Given the description of an element on the screen output the (x, y) to click on. 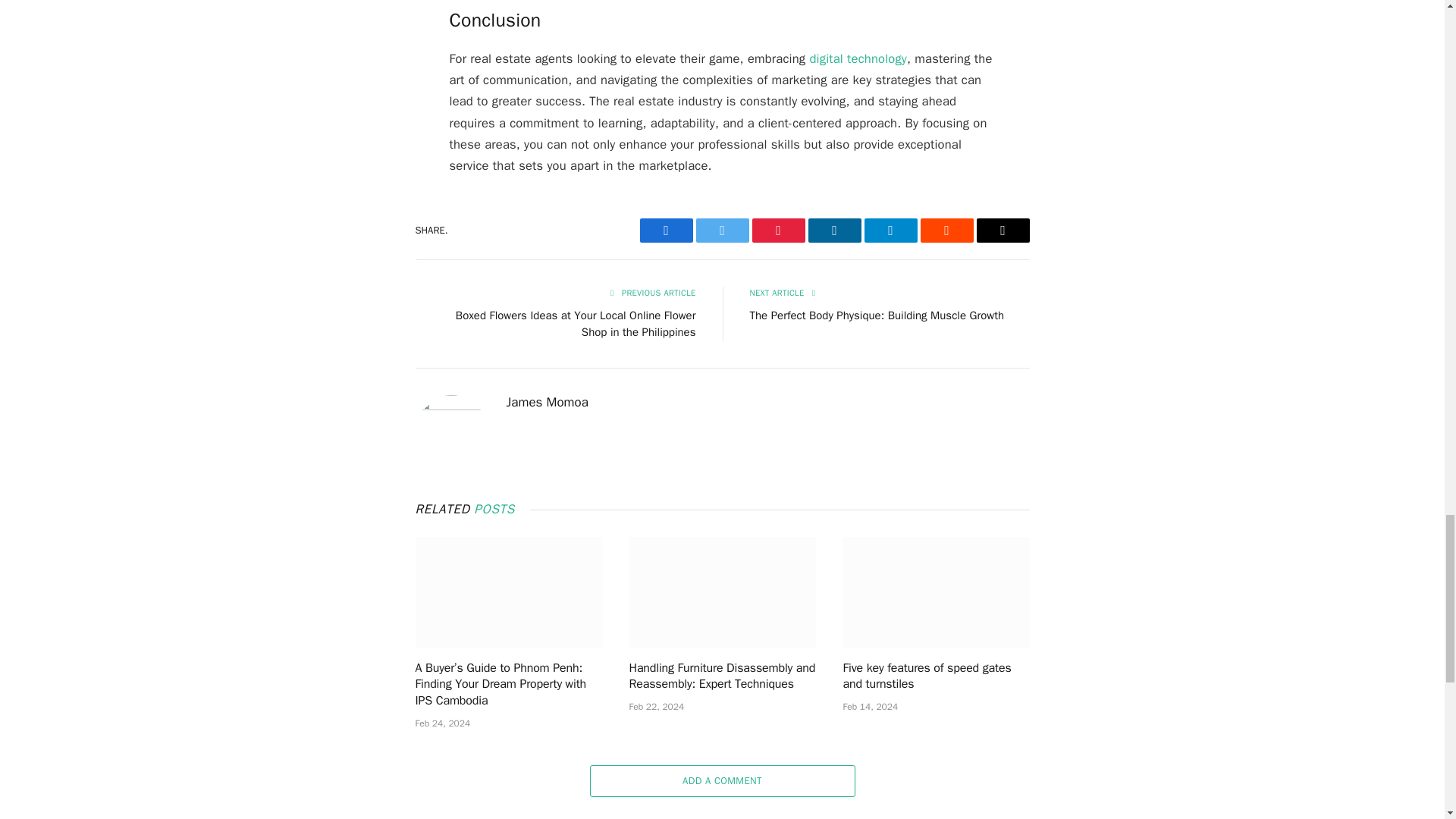
Share on LinkedIn (834, 230)
Share on Pinterest (778, 230)
Share on Facebook (666, 230)
